Given the description of an element on the screen output the (x, y) to click on. 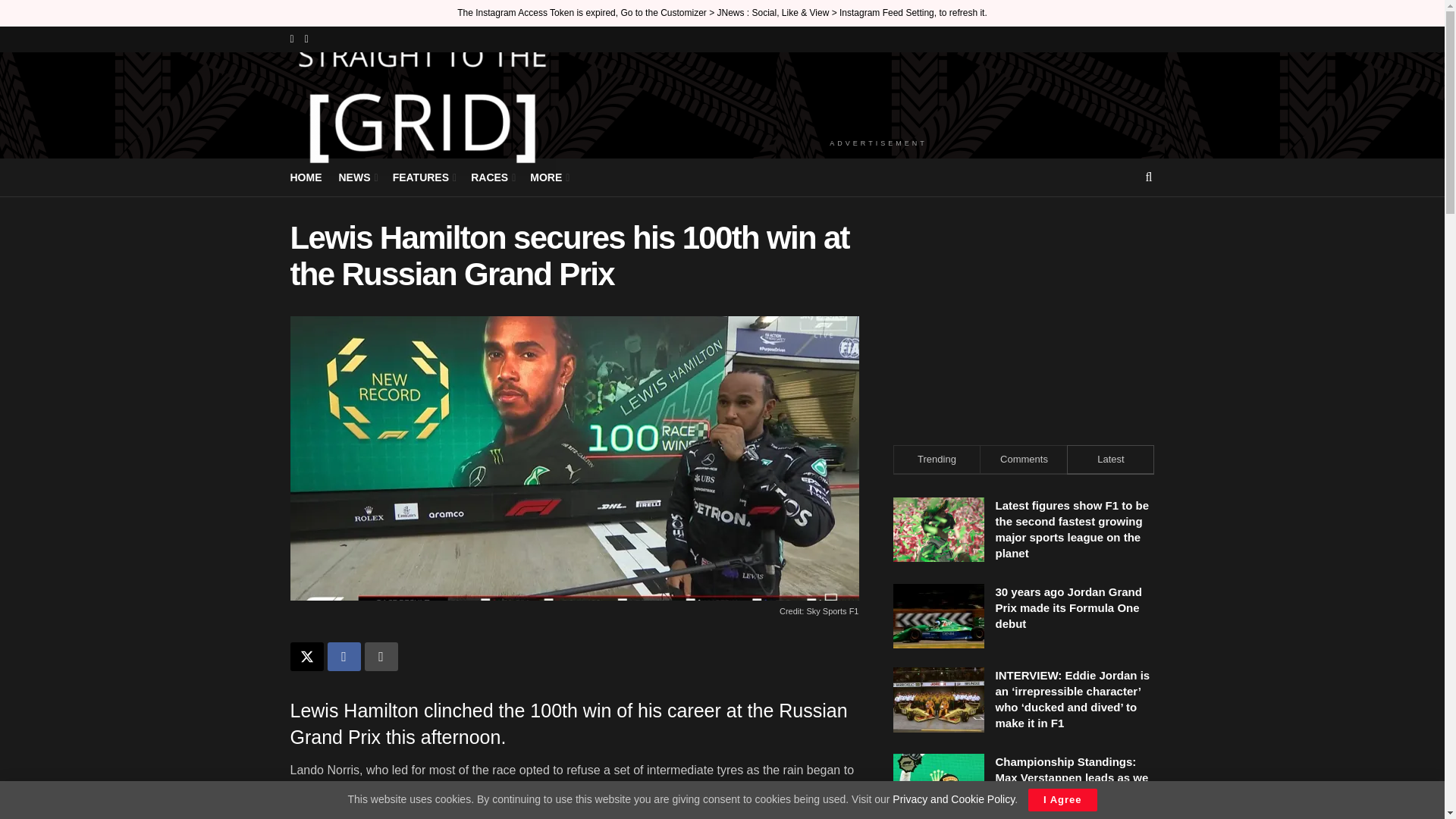
Advertisement (878, 92)
HOME (305, 177)
FEATURES (423, 177)
NEWS (356, 177)
Advertisement (1023, 314)
